Given the description of an element on the screen output the (x, y) to click on. 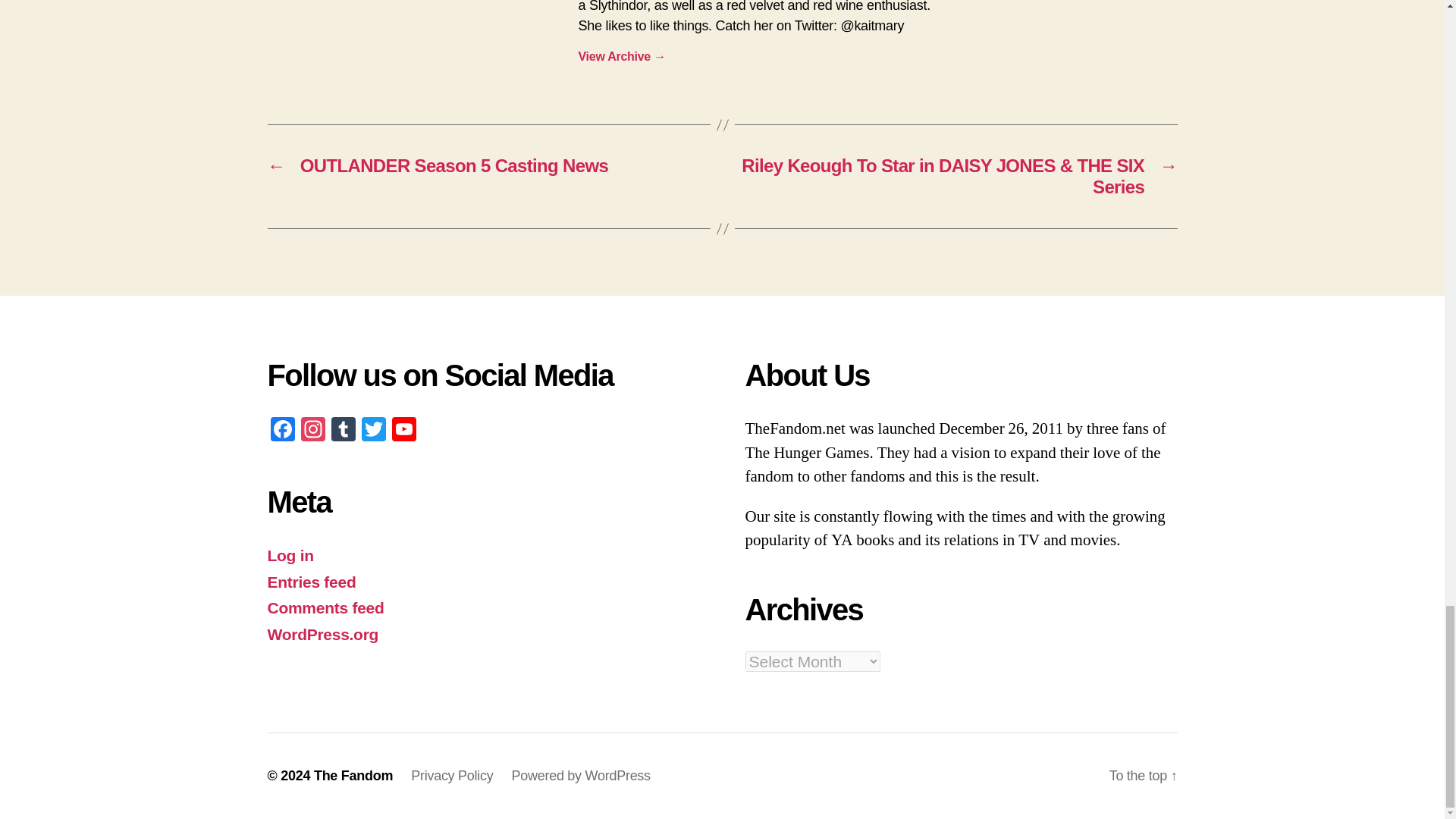
Twitter (373, 430)
Facebook (281, 430)
Tumblr (342, 430)
YouTube Channel (403, 430)
Instagram (312, 430)
